Given the description of an element on the screen output the (x, y) to click on. 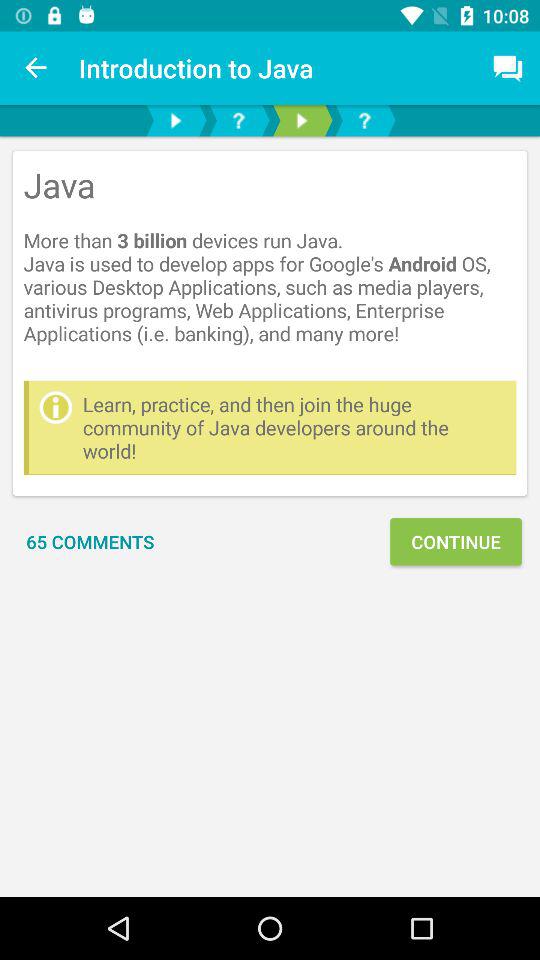
tap icon above the java  more icon (508, 67)
